Given the description of an element on the screen output the (x, y) to click on. 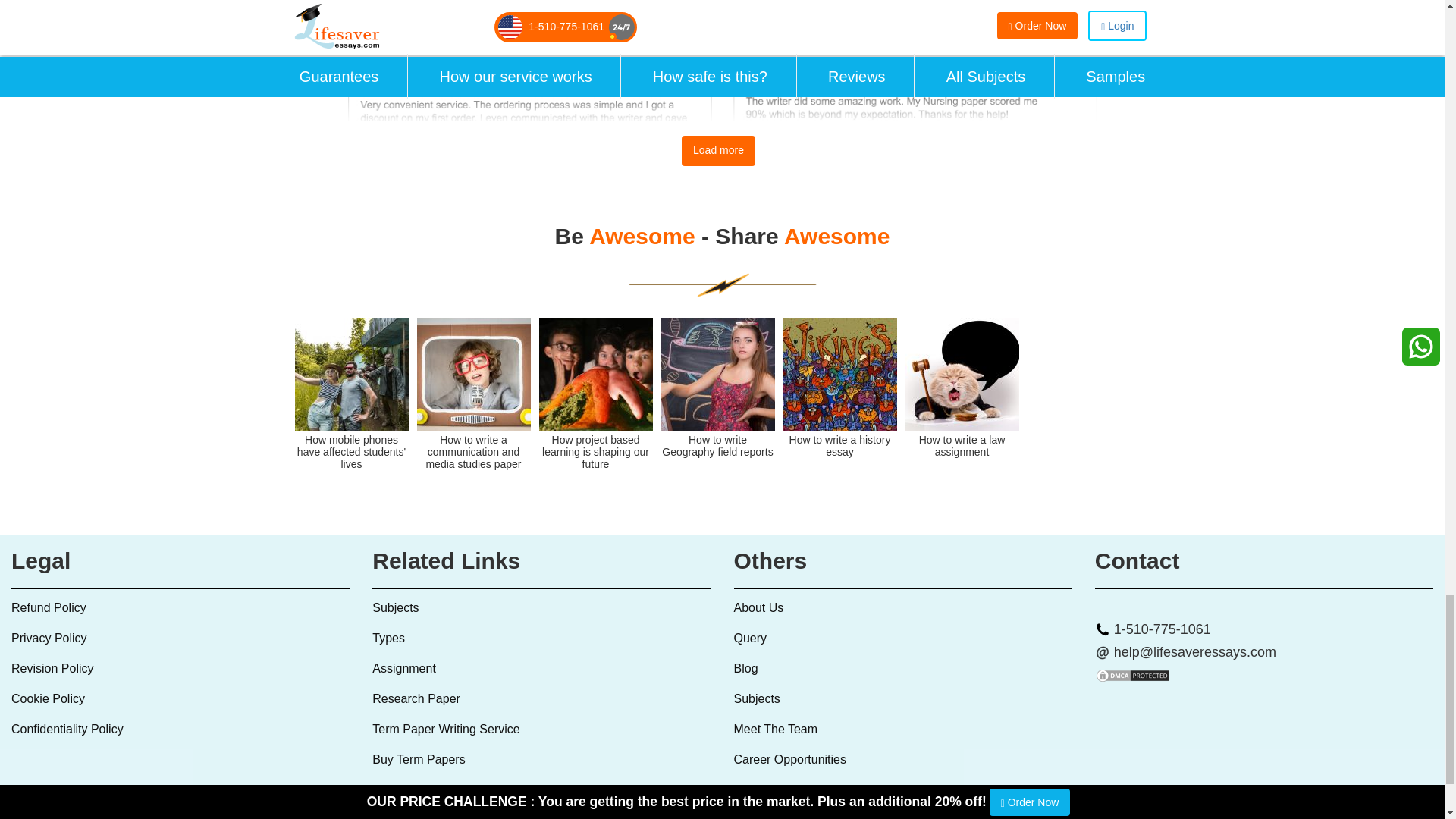
Privacy Policy (49, 637)
Refund Policy (48, 607)
Cookie Policy (47, 698)
Revision Policy (52, 667)
Load more (718, 150)
Confidentiality Policy (67, 728)
